Given the description of an element on the screen output the (x, y) to click on. 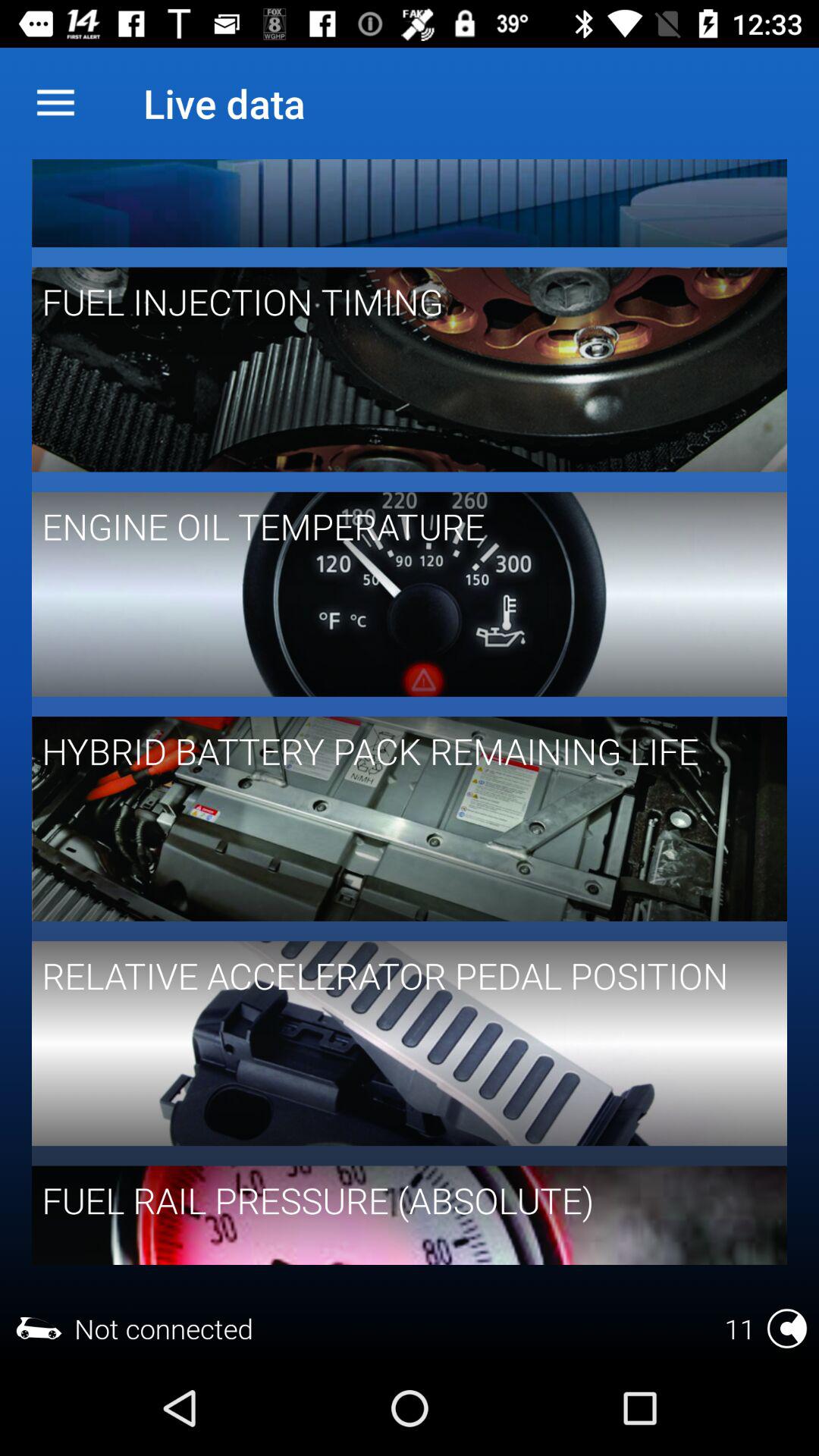
flip until the fuel rail pressure item (398, 1199)
